Given the description of an element on the screen output the (x, y) to click on. 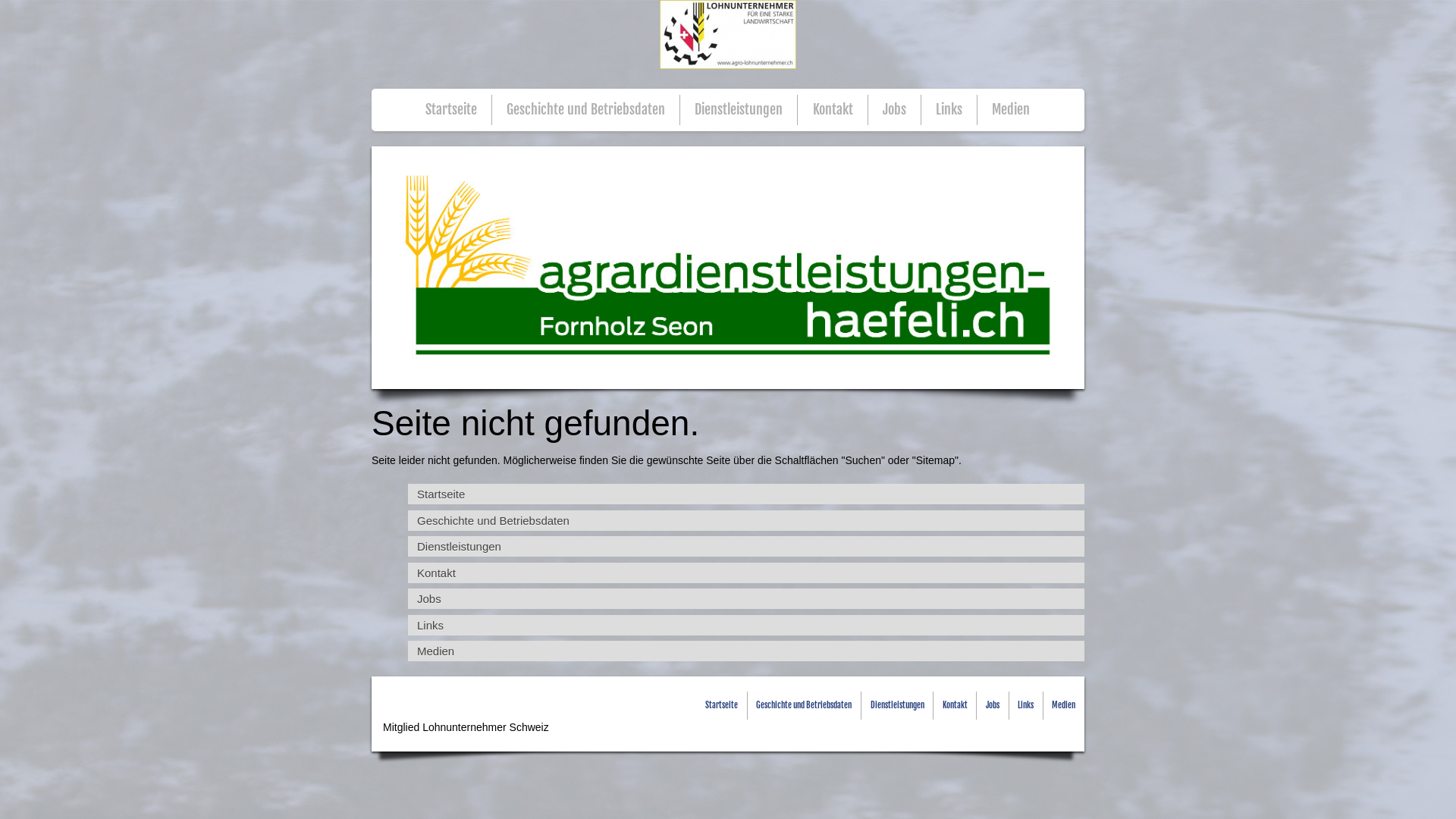
Geschichte und Betriebsdaten Element type: text (803, 705)
Kontakt Element type: text (832, 109)
Geschichte und Betriebsdaten Element type: text (745, 520)
Dienstleistungen Element type: text (897, 705)
Dienstleistungen Element type: text (738, 109)
Kontakt Element type: text (955, 705)
Startseite Element type: text (721, 705)
Links Element type: text (745, 625)
Links Element type: text (948, 109)
Jobs Element type: text (745, 598)
Startseite Element type: text (745, 493)
Medien Element type: text (745, 650)
Medien Element type: text (1063, 705)
Dienstleistungen Element type: text (745, 546)
Geschichte und Betriebsdaten Element type: text (585, 109)
Kontakt Element type: text (745, 572)
Jobs Element type: text (894, 109)
Medien Element type: text (1010, 109)
Links Element type: text (1025, 705)
Startseite Element type: text (450, 109)
Jobs Element type: text (992, 705)
